Given the description of an element on the screen output the (x, y) to click on. 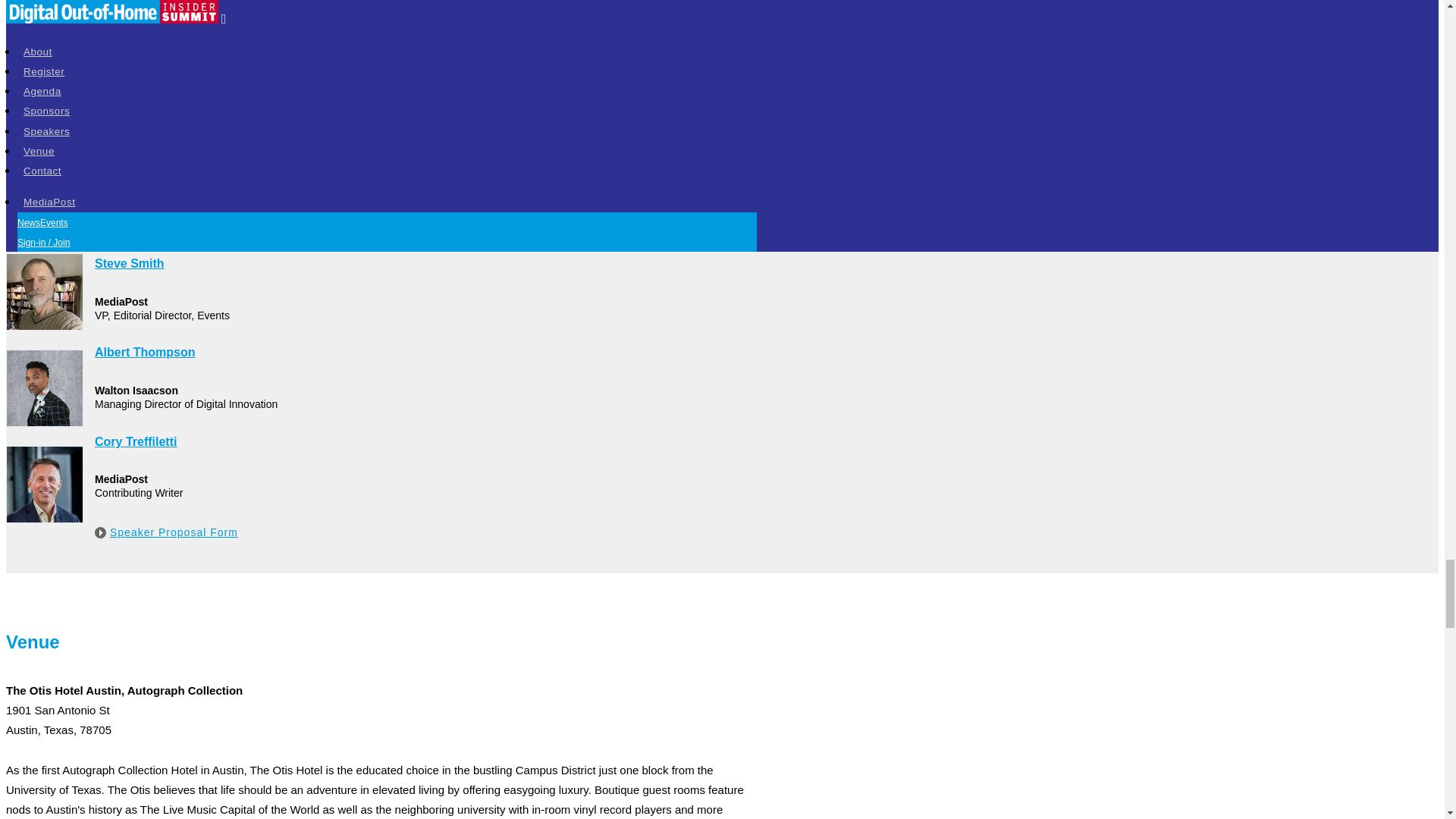
Steve Smith (381, 263)
Speaker Proposal Form (170, 532)
Albert Thompson (381, 352)
Cory Treffiletti (381, 441)
